Given the description of an element on the screen output the (x, y) to click on. 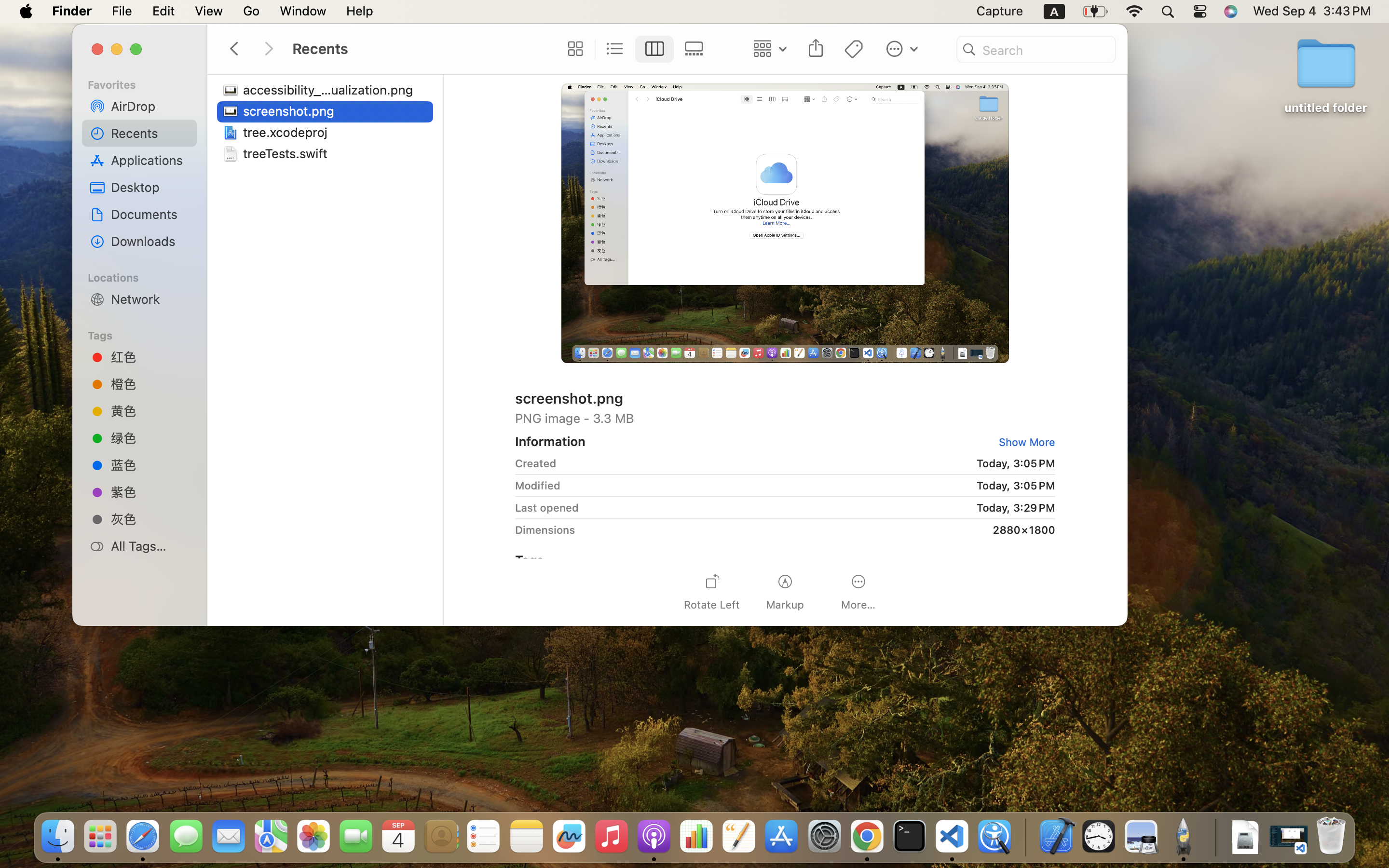
红色 Element type: AXStaticText (149, 356)
黄色 Element type: AXStaticText (149, 410)
Dimensions Element type: AXStaticText (544, 529)
screenshot.png Element type: AXTextField (290, 110)
Favorites Element type: AXStaticText (144, 83)
